Given the description of an element on the screen output the (x, y) to click on. 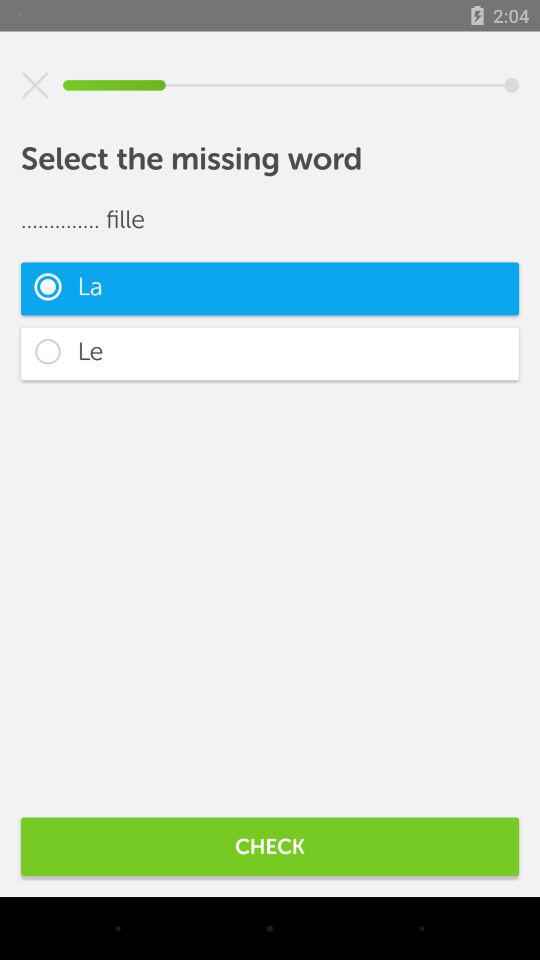
choose check icon (270, 846)
